Given the description of an element on the screen output the (x, y) to click on. 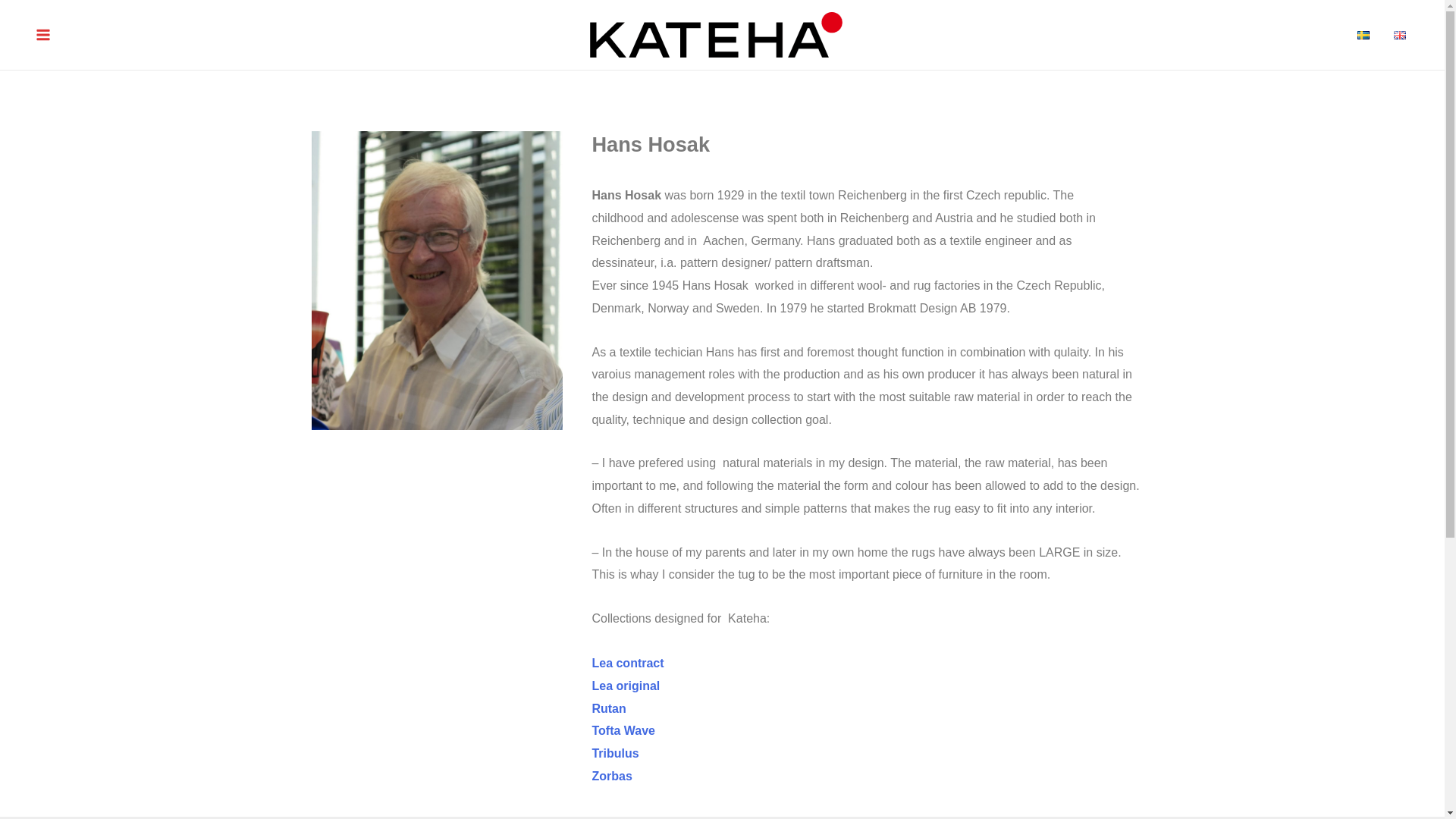
Tribulus (615, 753)
Zorbas (611, 775)
Tofta Wave (623, 730)
Lea contract (627, 662)
Rutan (608, 707)
Lea original (625, 685)
